Given the description of an element on the screen output the (x, y) to click on. 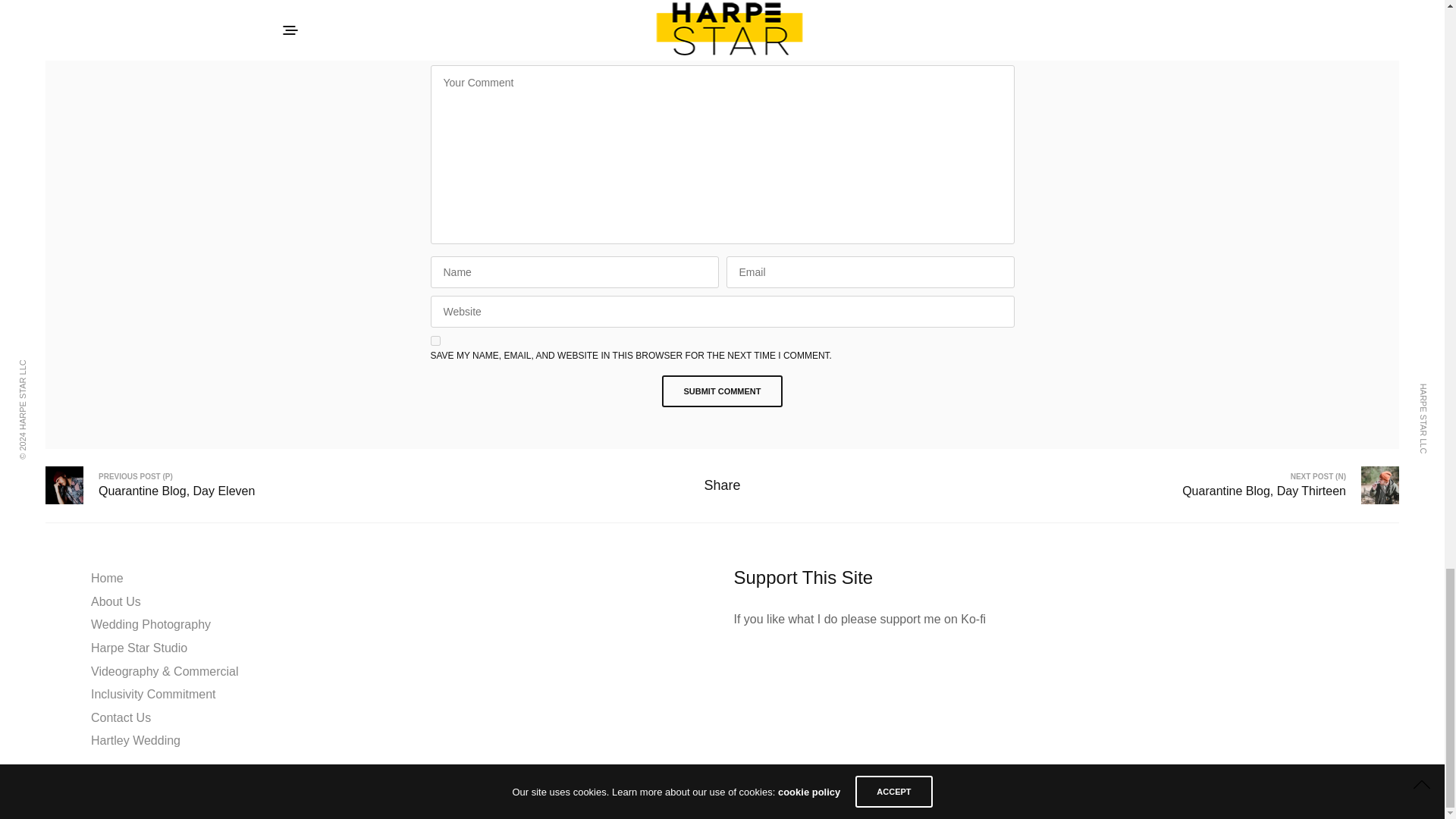
Hartley Wedding (135, 739)
Harpe Star Studio (138, 647)
Contact Us (120, 717)
Inclusivity Commitment (152, 694)
About Us (115, 601)
Submit Comment (721, 391)
Share (721, 485)
Submit Comment (721, 391)
yes (435, 340)
Wedding Photography (150, 624)
Home (106, 577)
